Given the description of an element on the screen output the (x, y) to click on. 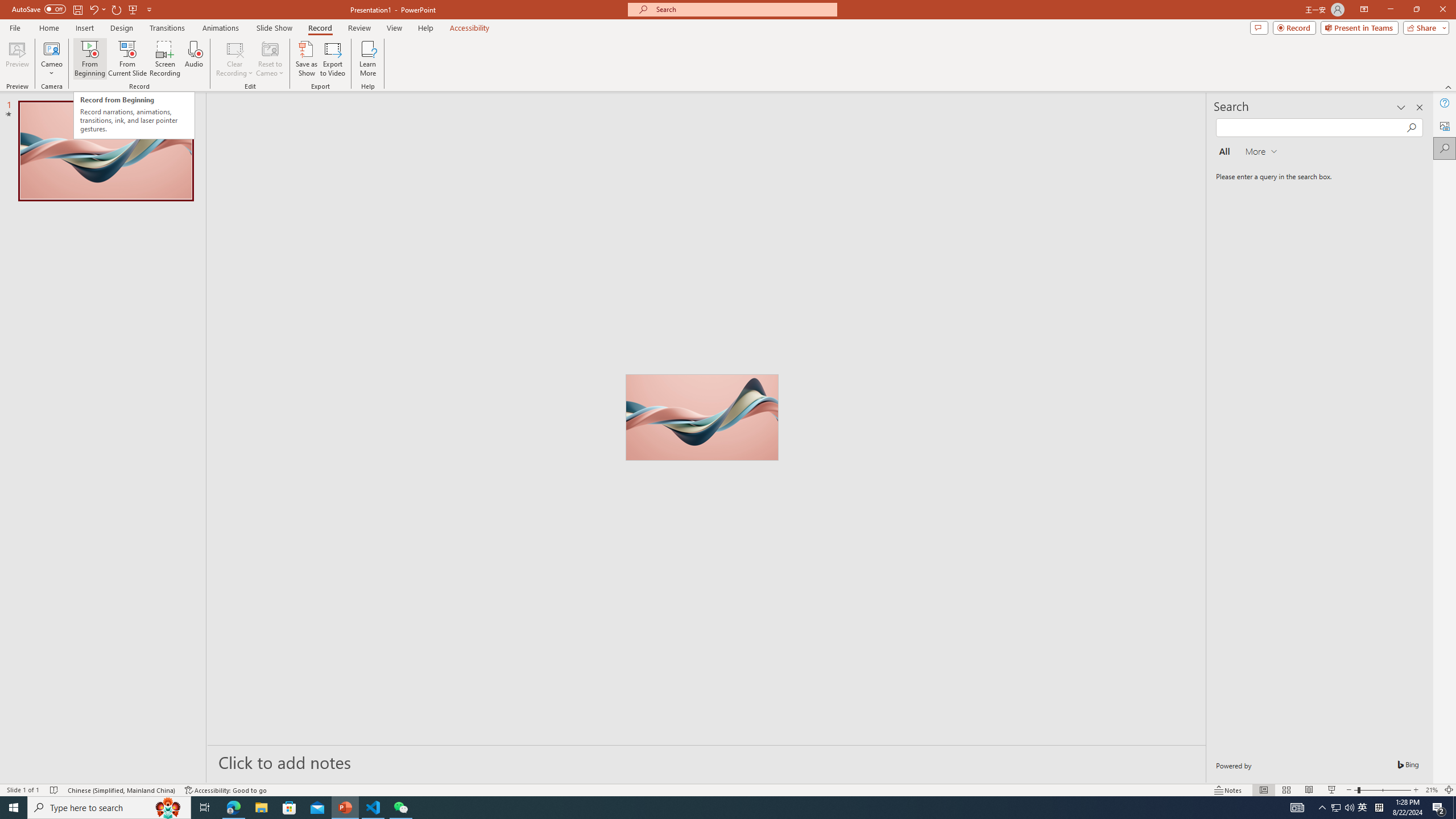
Screen Recording (165, 58)
Reset to Cameo (269, 58)
Zoom 21% (1431, 790)
